Given the description of an element on the screen output the (x, y) to click on. 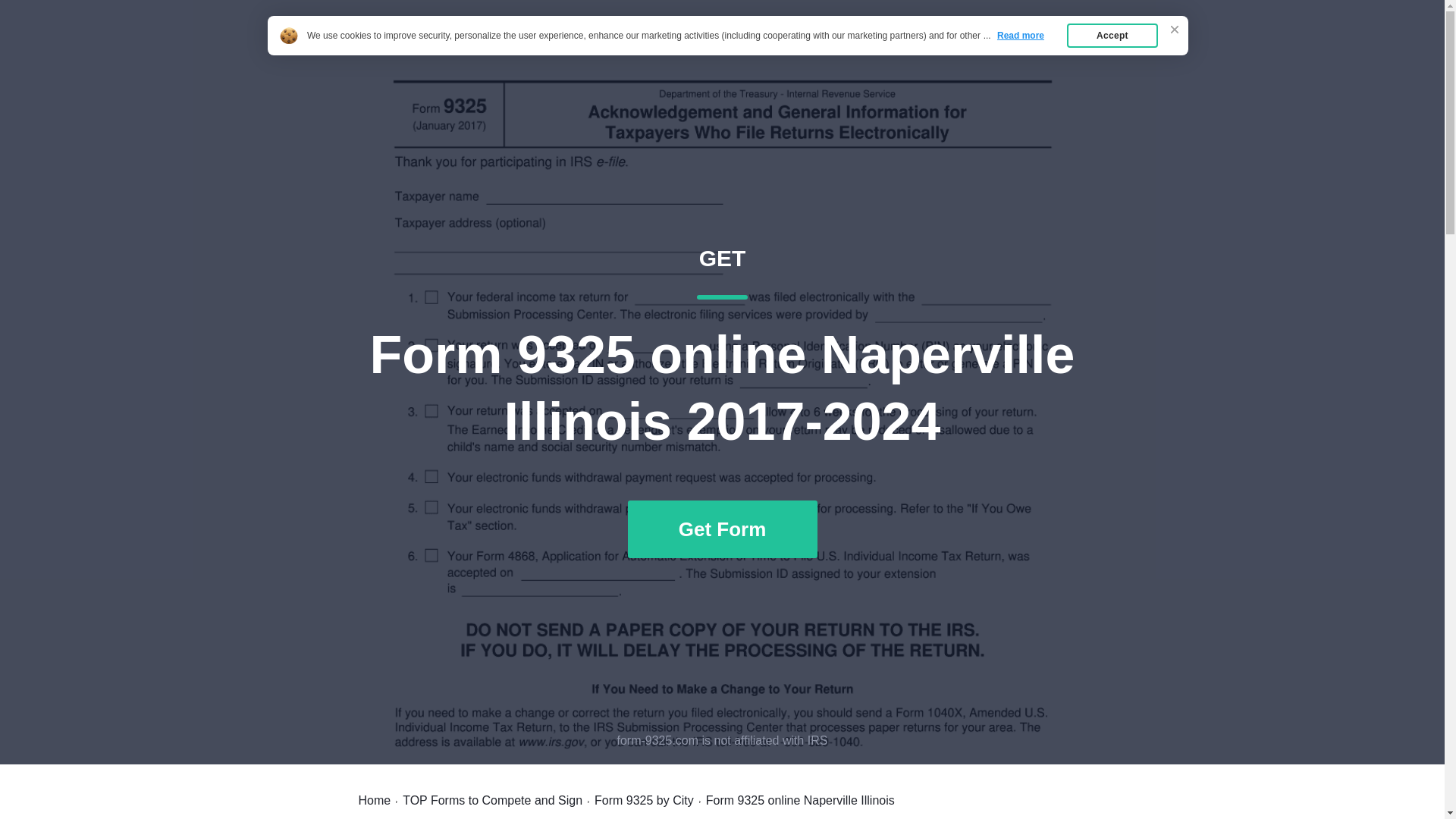
Home (644, 800)
Top Forms (987, 47)
TOP Forms to Compete and Sign (1062, 47)
Form 9325 (492, 800)
Home (397, 46)
